Given the description of an element on the screen output the (x, y) to click on. 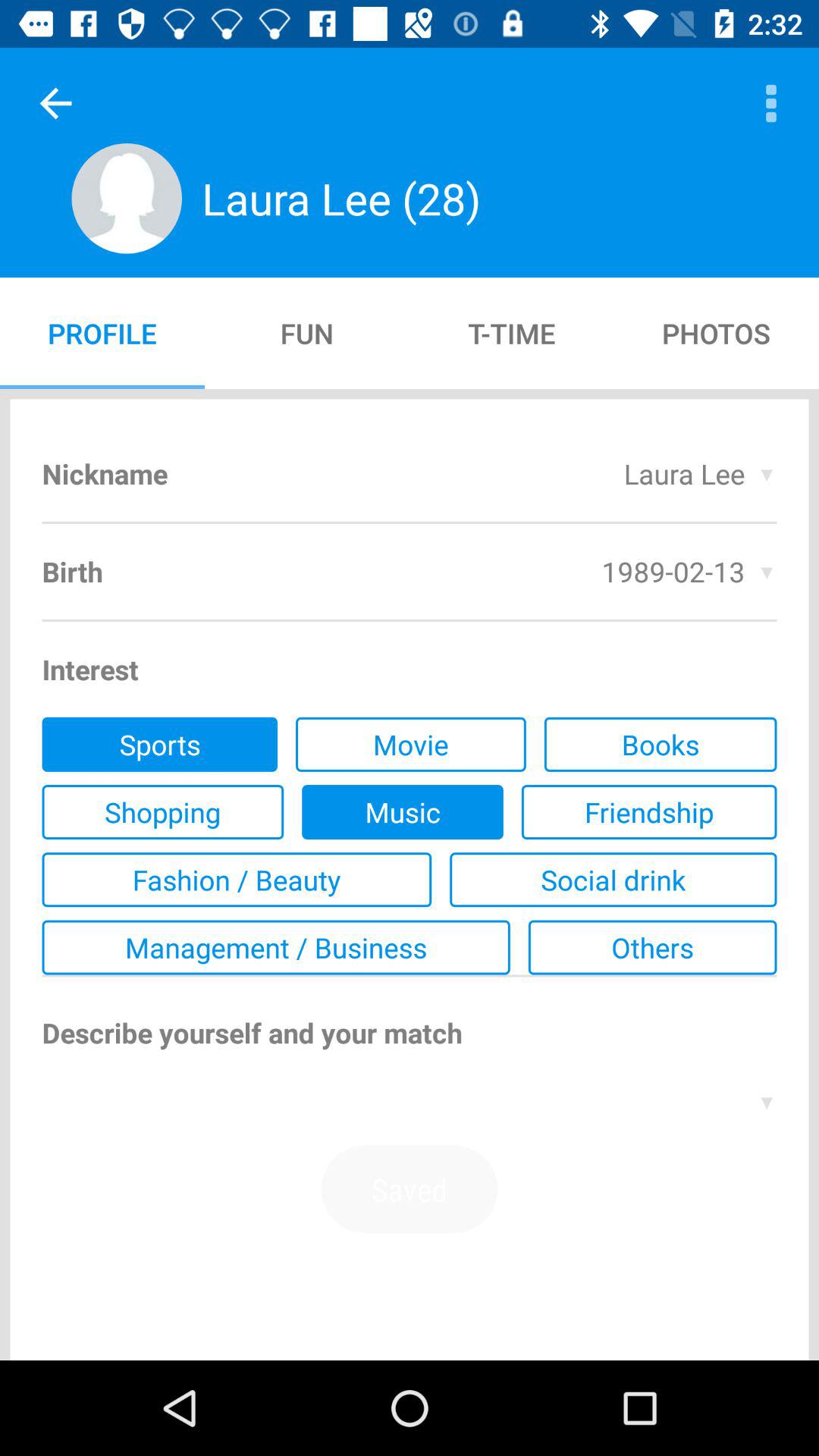
choose the item above the management / business icon (612, 879)
